Given the description of an element on the screen output the (x, y) to click on. 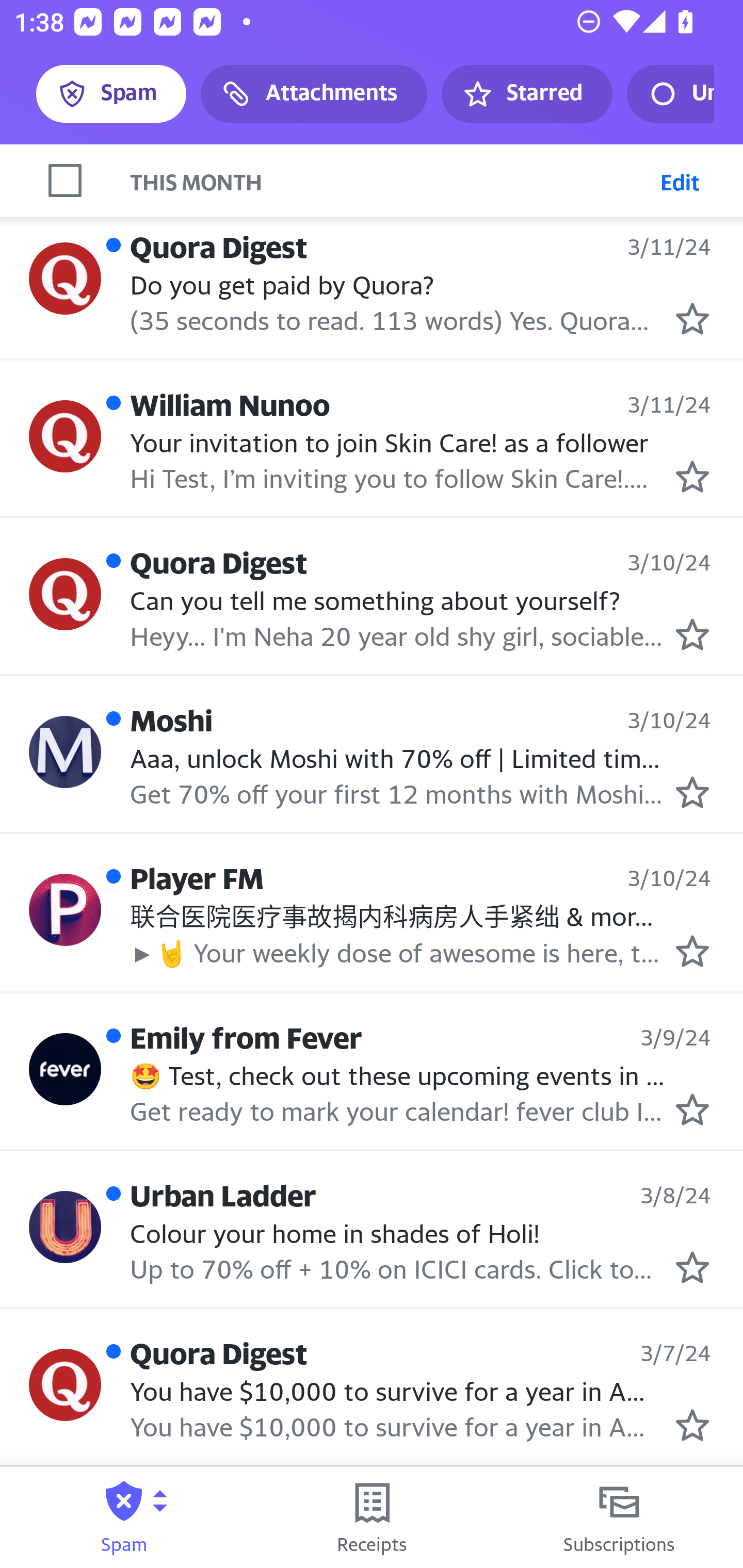
Attachments (313, 93)
Starred (526, 93)
Unread (670, 93)
Profile
Quora Digest (64, 279)
Mark as starred. (692, 319)
Profile
William Nunoo (64, 435)
Mark as starred. (692, 475)
Profile
Quora Digest (64, 594)
Mark as starred. (692, 634)
Profile
Moshi (64, 752)
Mark as starred. (692, 792)
Profile
Player FM (64, 909)
Mark as starred. (692, 950)
Profile
Emily from Fever (64, 1069)
Mark as starred. (692, 1109)
Profile
Urban Ladder (64, 1227)
Mark as starred. (692, 1267)
Profile
Quora Digest (64, 1384)
Mark as starred. (692, 1424)
Spam Folder picker (123, 1517)
Receipts (371, 1517)
Subscriptions (619, 1517)
